Given the description of an element on the screen output the (x, y) to click on. 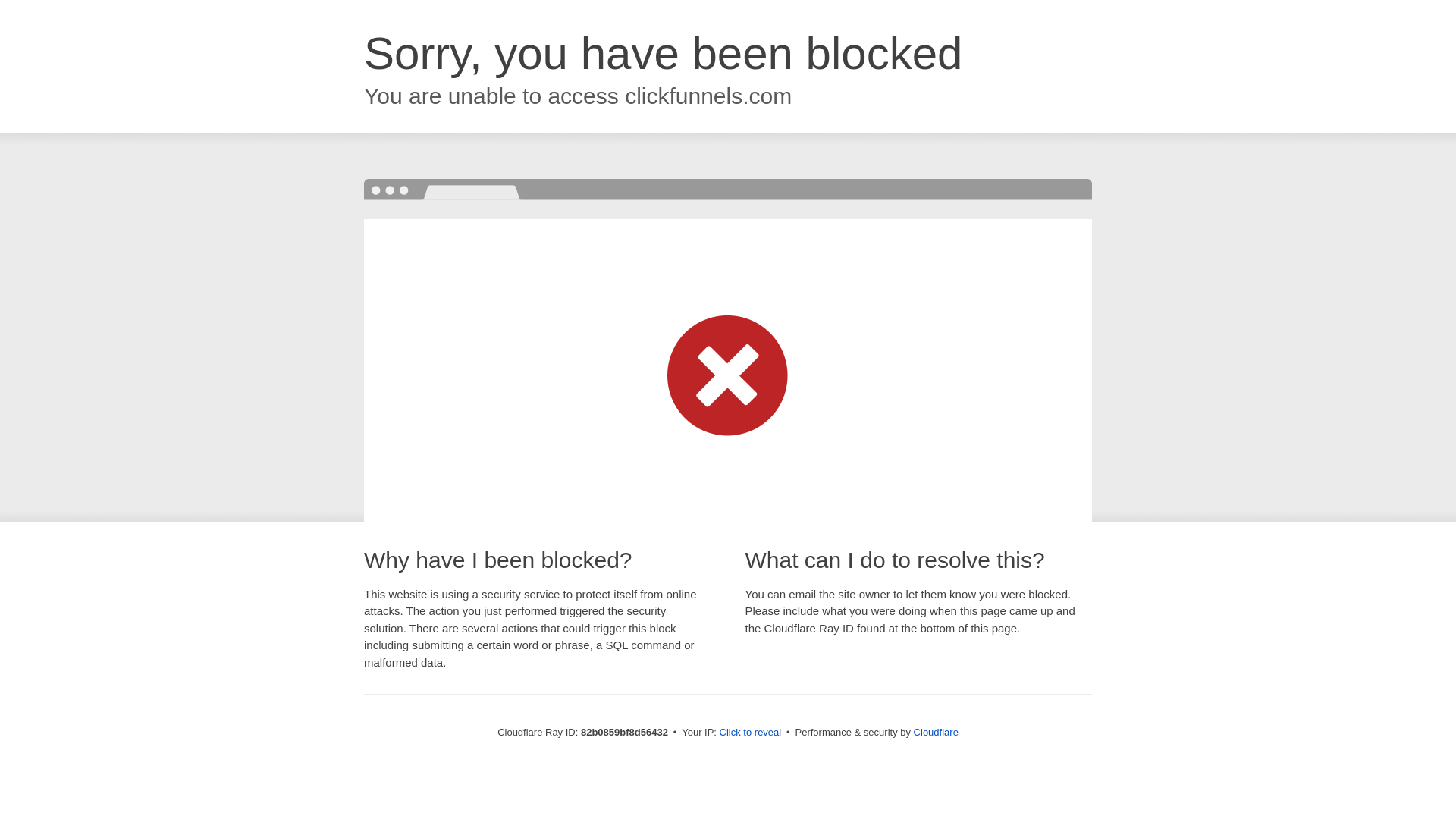
Click to reveal Element type: text (750, 732)
Cloudflare Element type: text (935, 731)
